Given the description of an element on the screen output the (x, y) to click on. 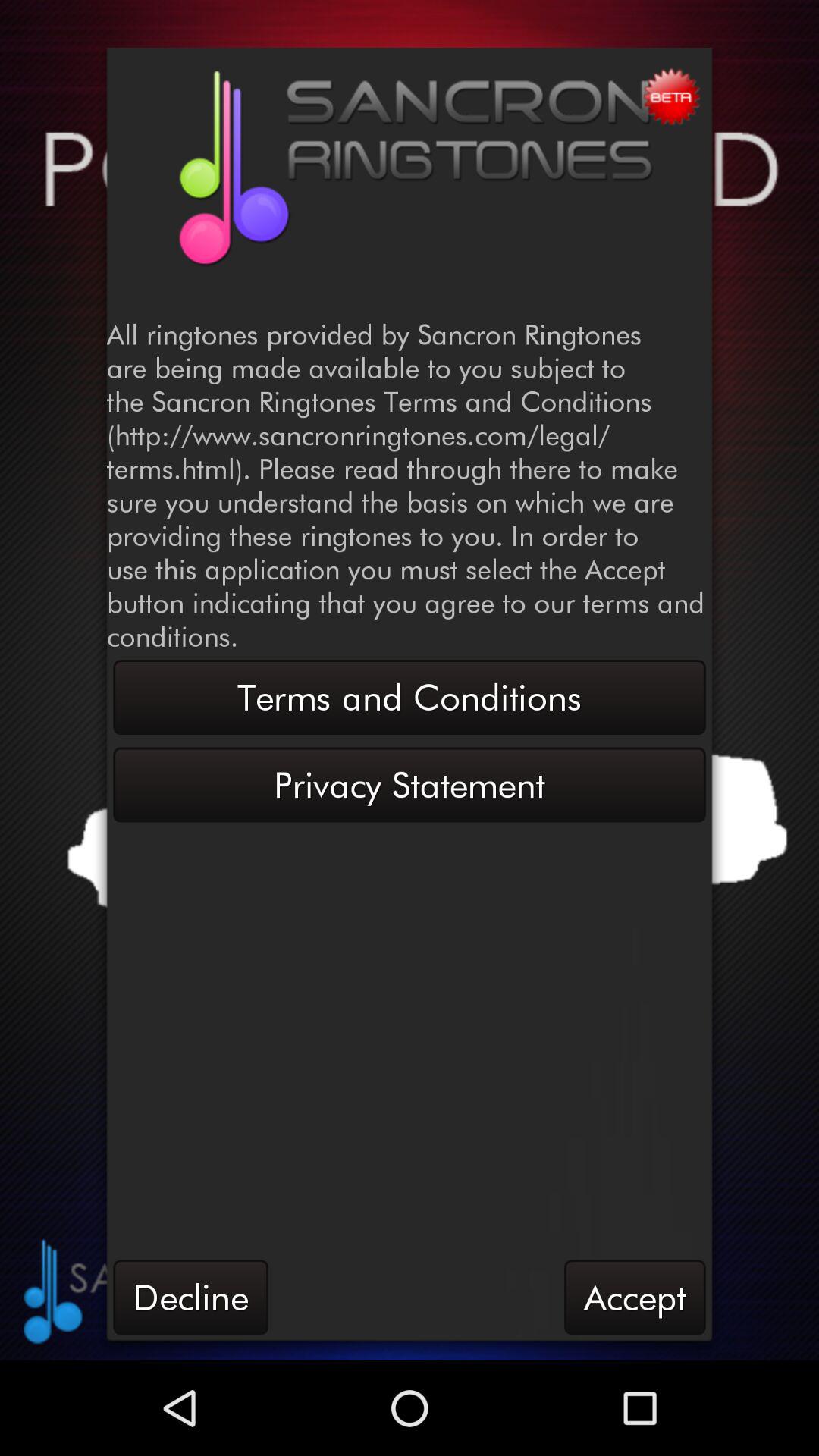
tap the accept button (634, 1296)
